Given the description of an element on the screen output the (x, y) to click on. 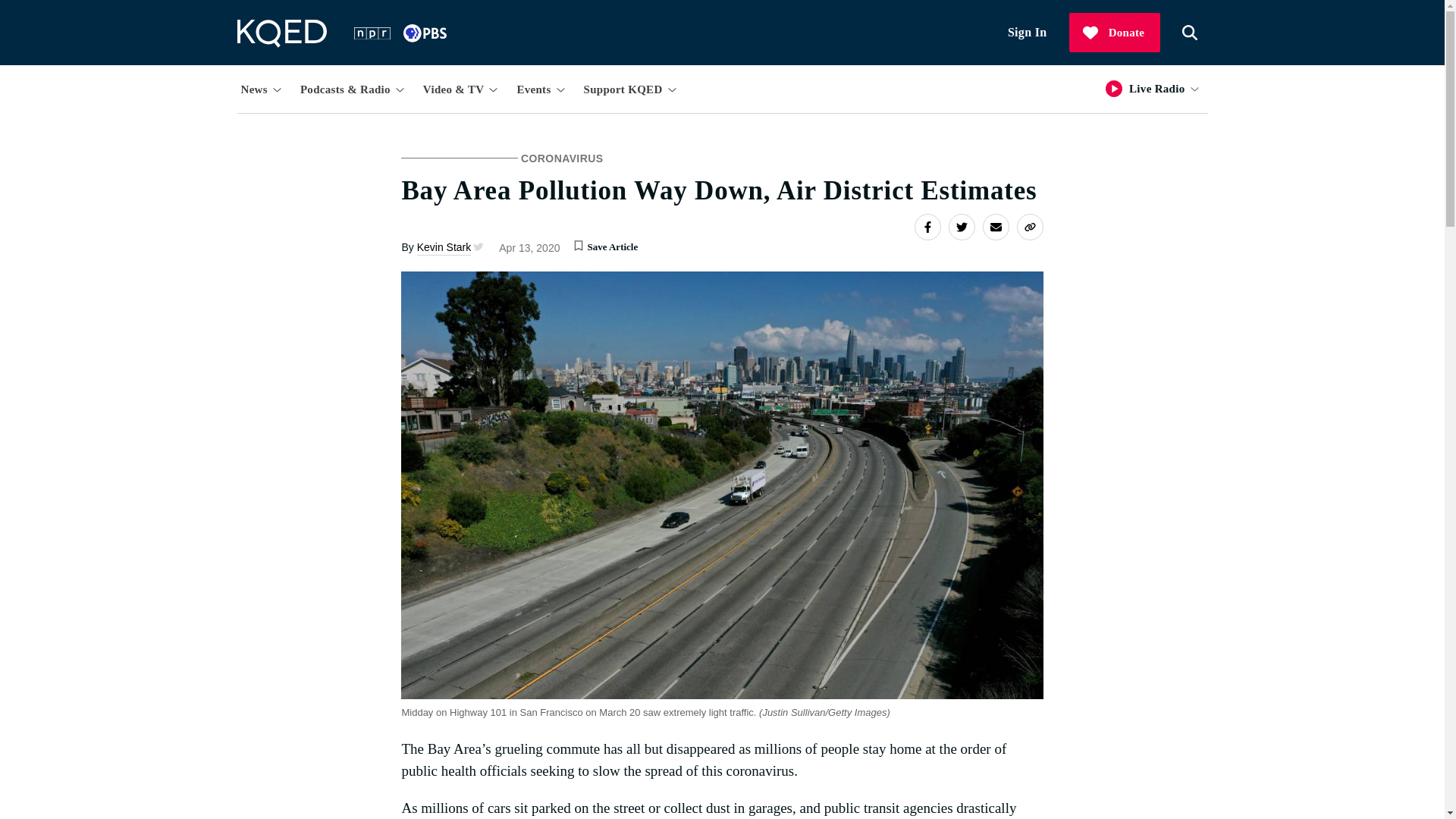
Donate (1114, 32)
News (262, 88)
Kevin Stark on Twitter (476, 246)
Save Article (578, 244)
Sign In (1027, 32)
